Given the description of an element on the screen output the (x, y) to click on. 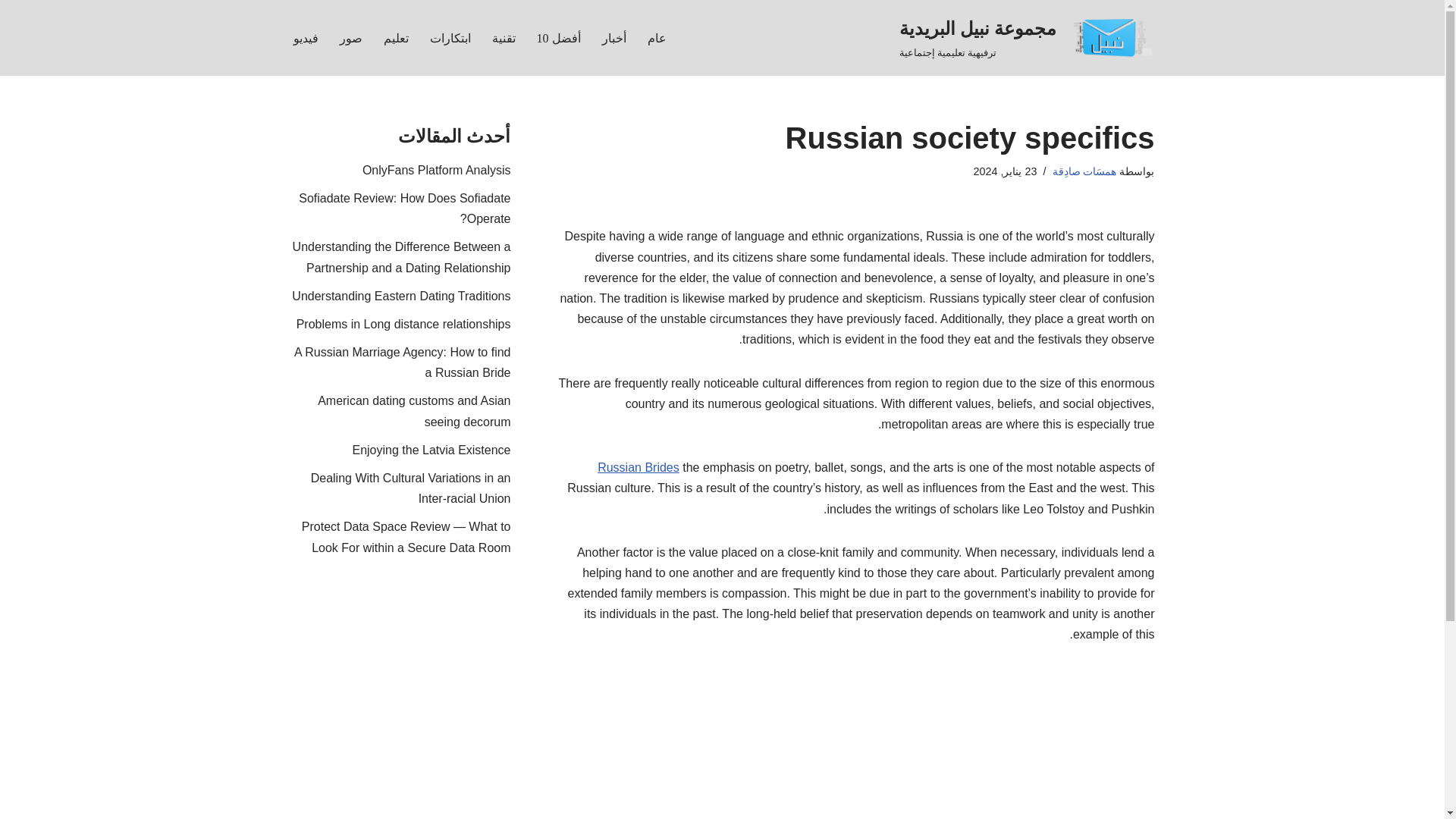
Sofiadate Review: How Does Sofiadate Operate? (404, 208)
American dating customs and Asian seeing decorum (414, 410)
Enjoying the Latvia Existence (431, 449)
Problems in Long distance relationships (404, 323)
Dealing With Cultural Variations in an Inter-racial Union (411, 488)
Understanding Eastern Dating Traditions (401, 295)
A Russian Marriage Agency: How to find a Russian Bride (402, 362)
OnlyFans Platform Analysis (436, 169)
Russian Brides (637, 467)
